Given the description of an element on the screen output the (x, y) to click on. 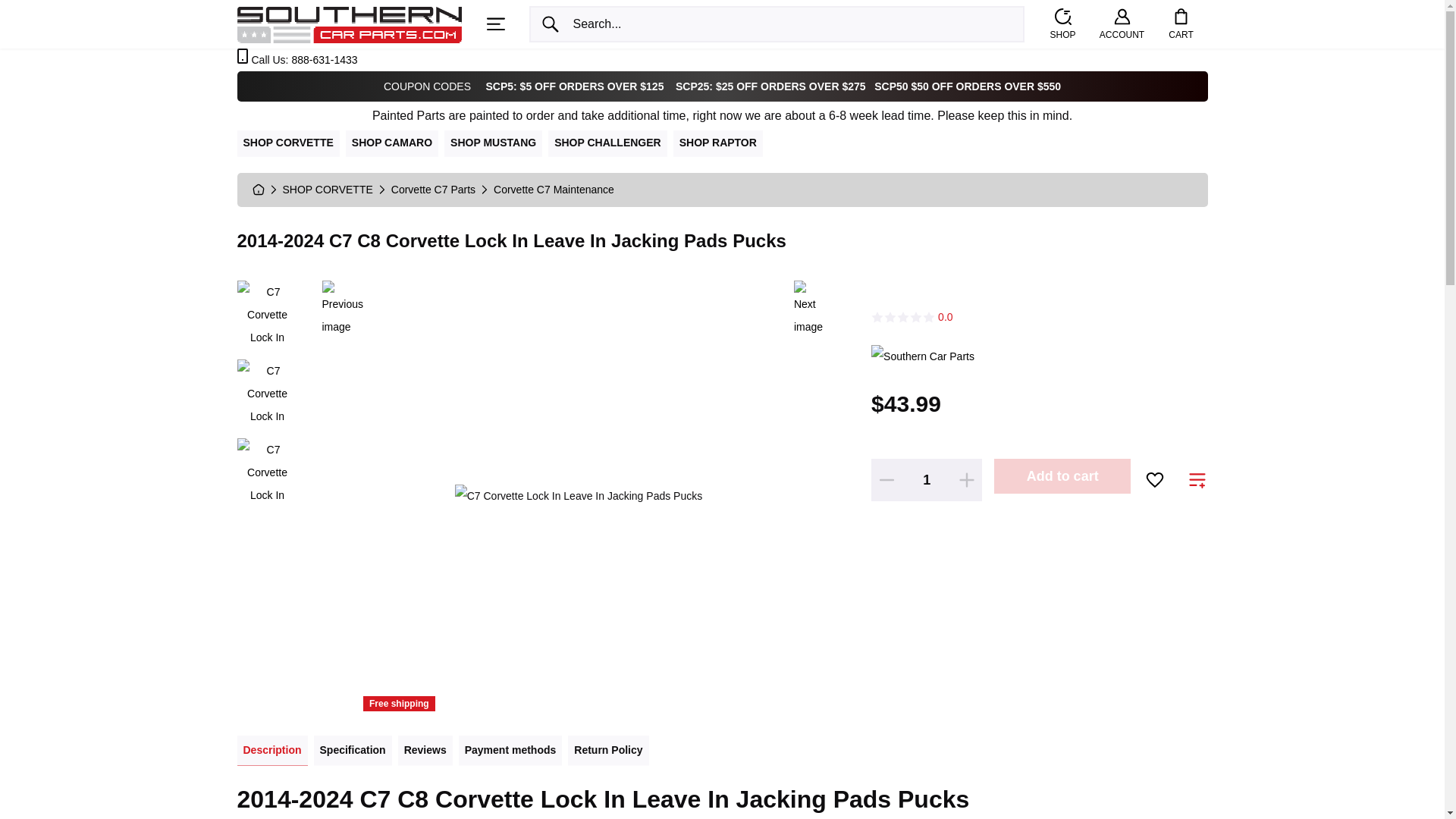
on (1197, 480)
Quantity (926, 480)
Search (550, 23)
C7 Corvette Lock In Leave In Jacking Pads Pucks (266, 471)
Add to wishlist (1154, 479)
C7 Corvette Lock In Leave In Jacking Pads Pucks (266, 313)
1 (926, 480)
Home (348, 23)
C7 Corvette Lock In Leave In Jacking Pads Pucks (266, 392)
SHOP (1062, 24)
